Given the description of an element on the screen output the (x, y) to click on. 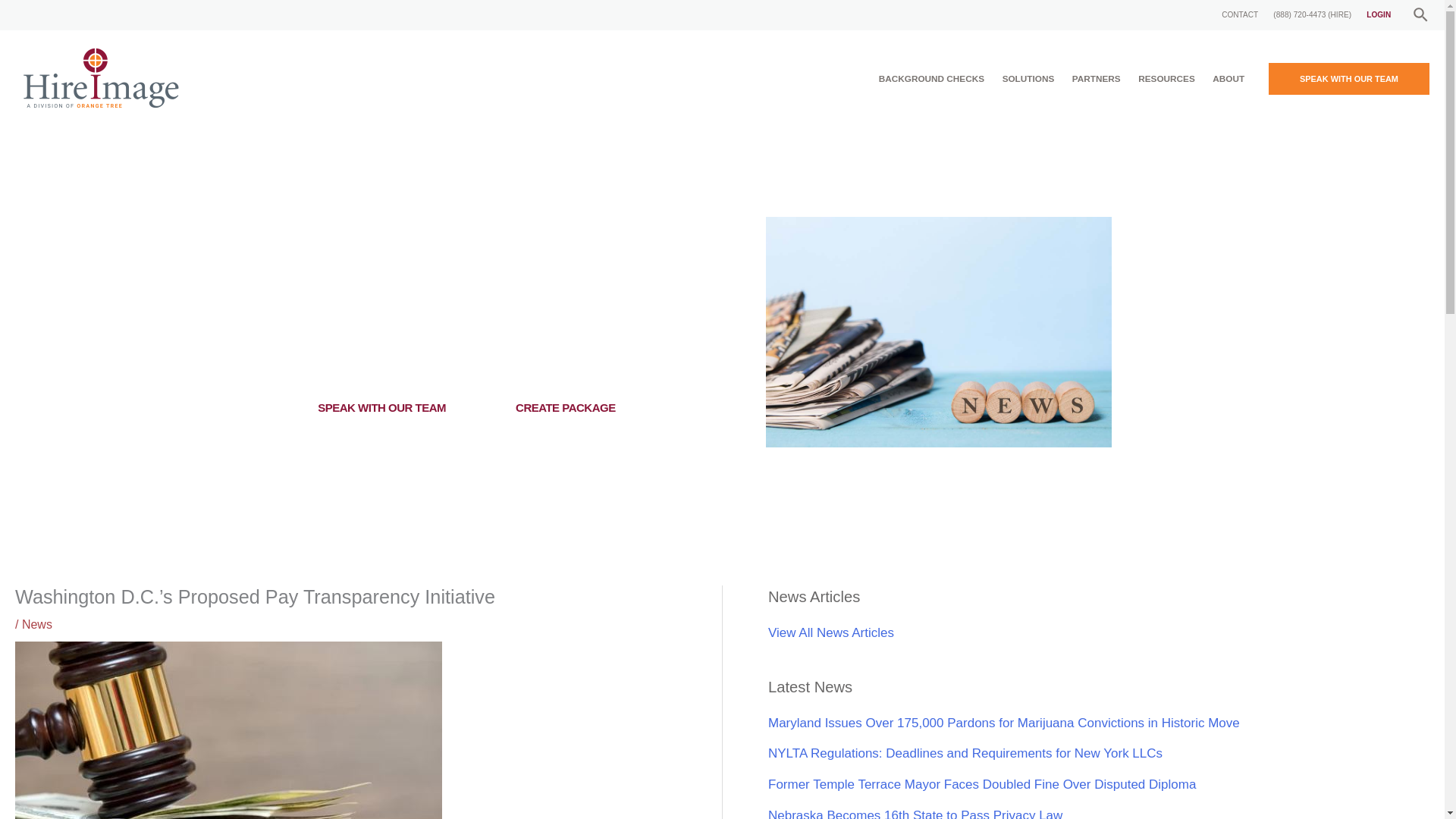
BACKGROUND CHECKS (930, 78)
SOLUTIONS (1027, 78)
LOGIN (1377, 15)
CONTACT (1239, 15)
